Given the description of an element on the screen output the (x, y) to click on. 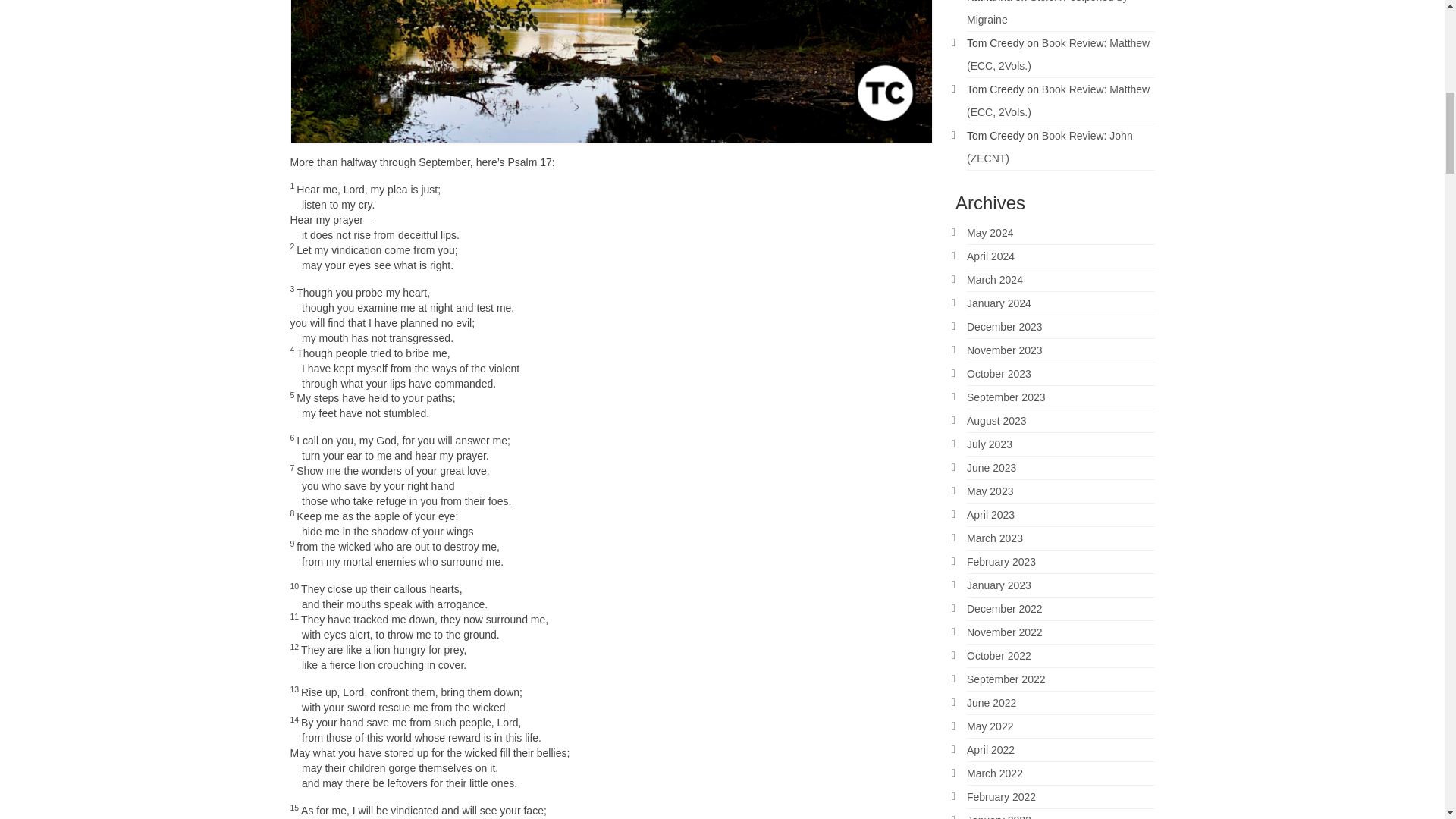
March 2024 (994, 279)
January 2024 (998, 303)
May 2024 (989, 232)
April 2024 (990, 256)
December 2023 (1004, 326)
